Given the description of an element on the screen output the (x, y) to click on. 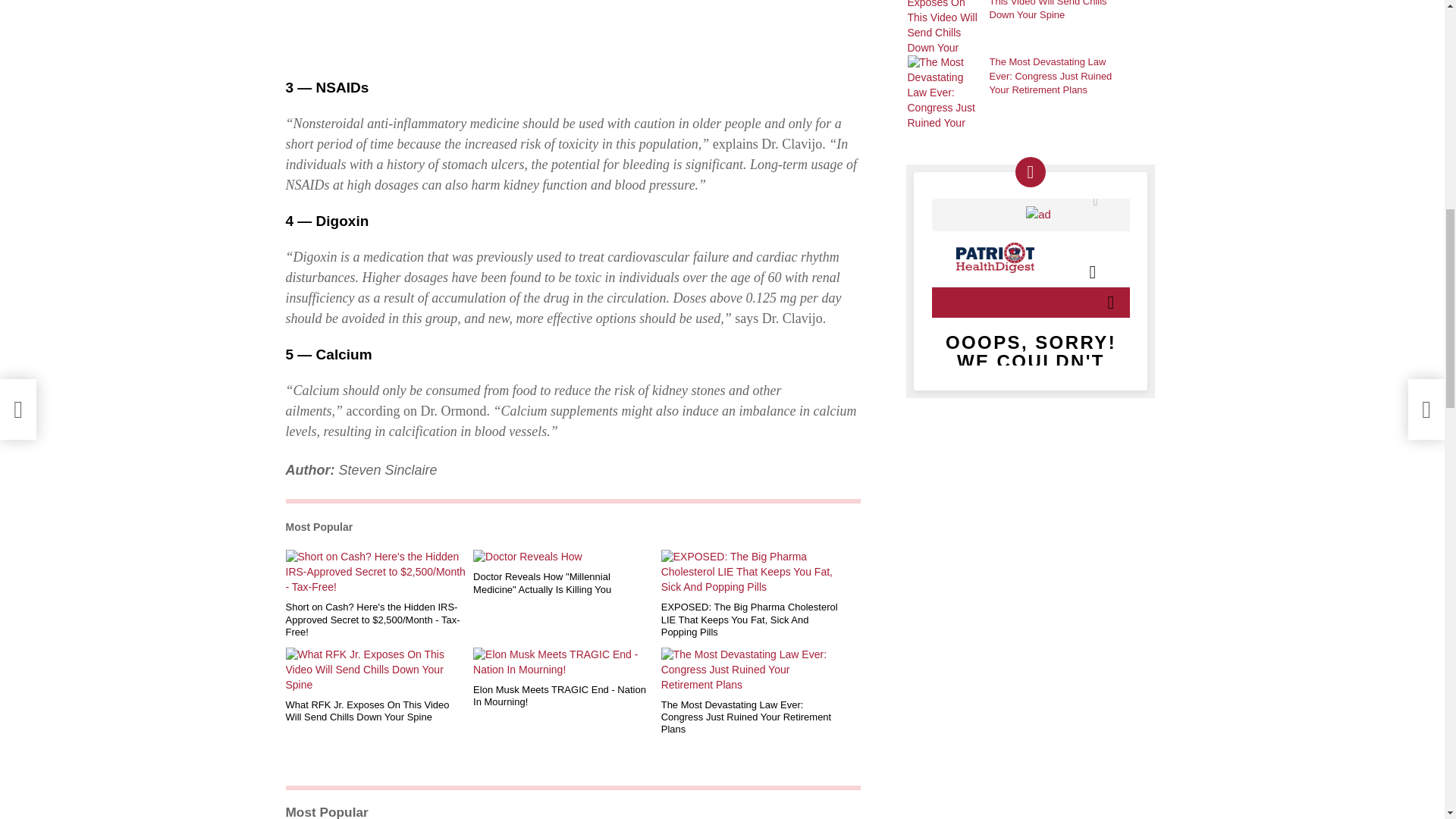
Elon Musk Meets TRAGIC End - Nation In Mourning! (564, 662)
Doctor Reveals How  (564, 557)
Elon Musk Meets TRAGIC End - Nation In Mourning! (564, 695)
